Given the description of an element on the screen output the (x, y) to click on. 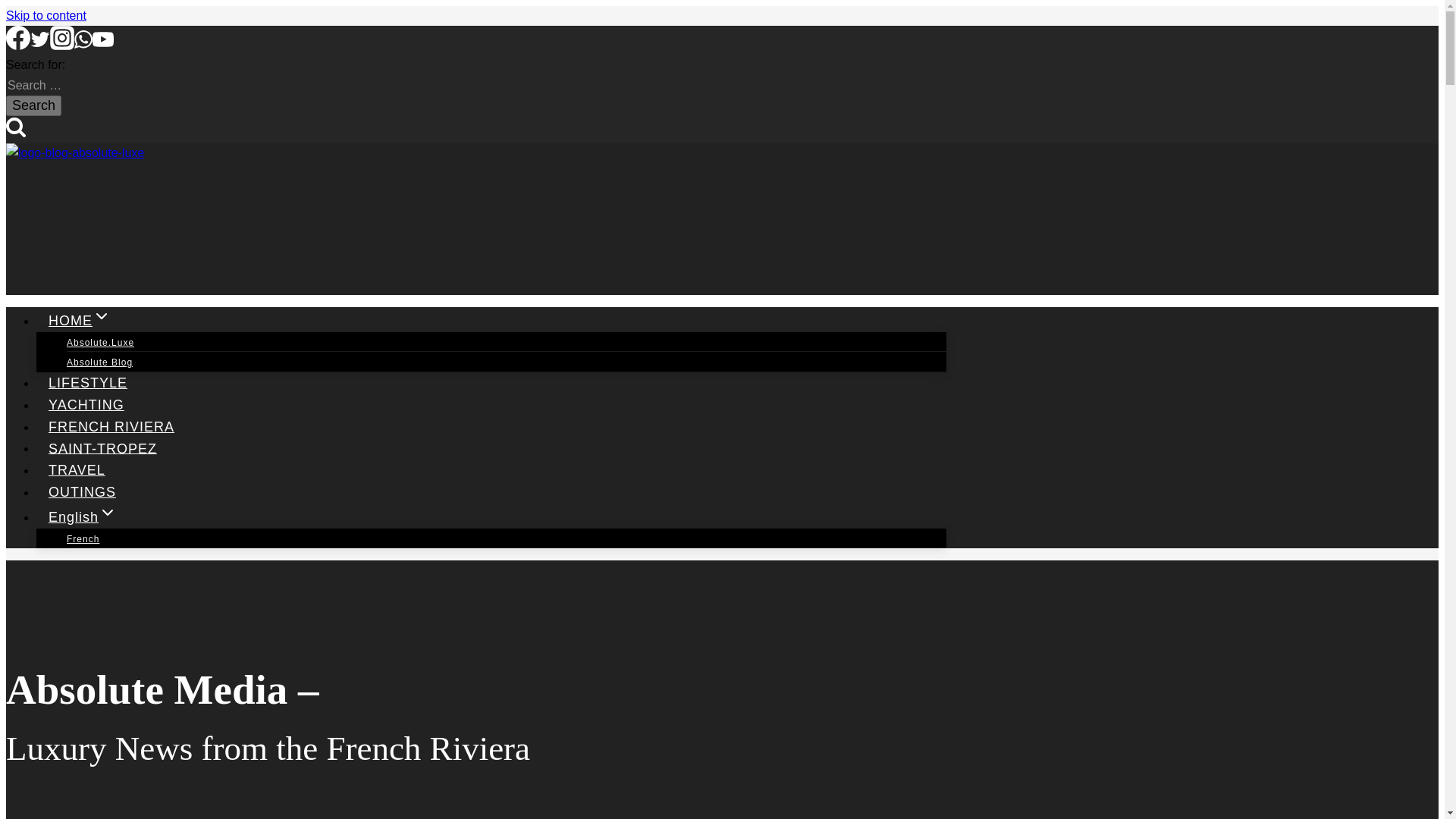
YouTube (103, 45)
Absolute Blog (99, 362)
Skip to content (45, 15)
WhatsApp (83, 45)
French (82, 538)
Expand (101, 316)
Expand (107, 512)
Search (15, 126)
YACHTING (86, 404)
Search (33, 105)
French (82, 538)
Search (33, 105)
TRAVEL (76, 470)
Skip to content (45, 15)
EnglishExpand (82, 517)
